Given the description of an element on the screen output the (x, y) to click on. 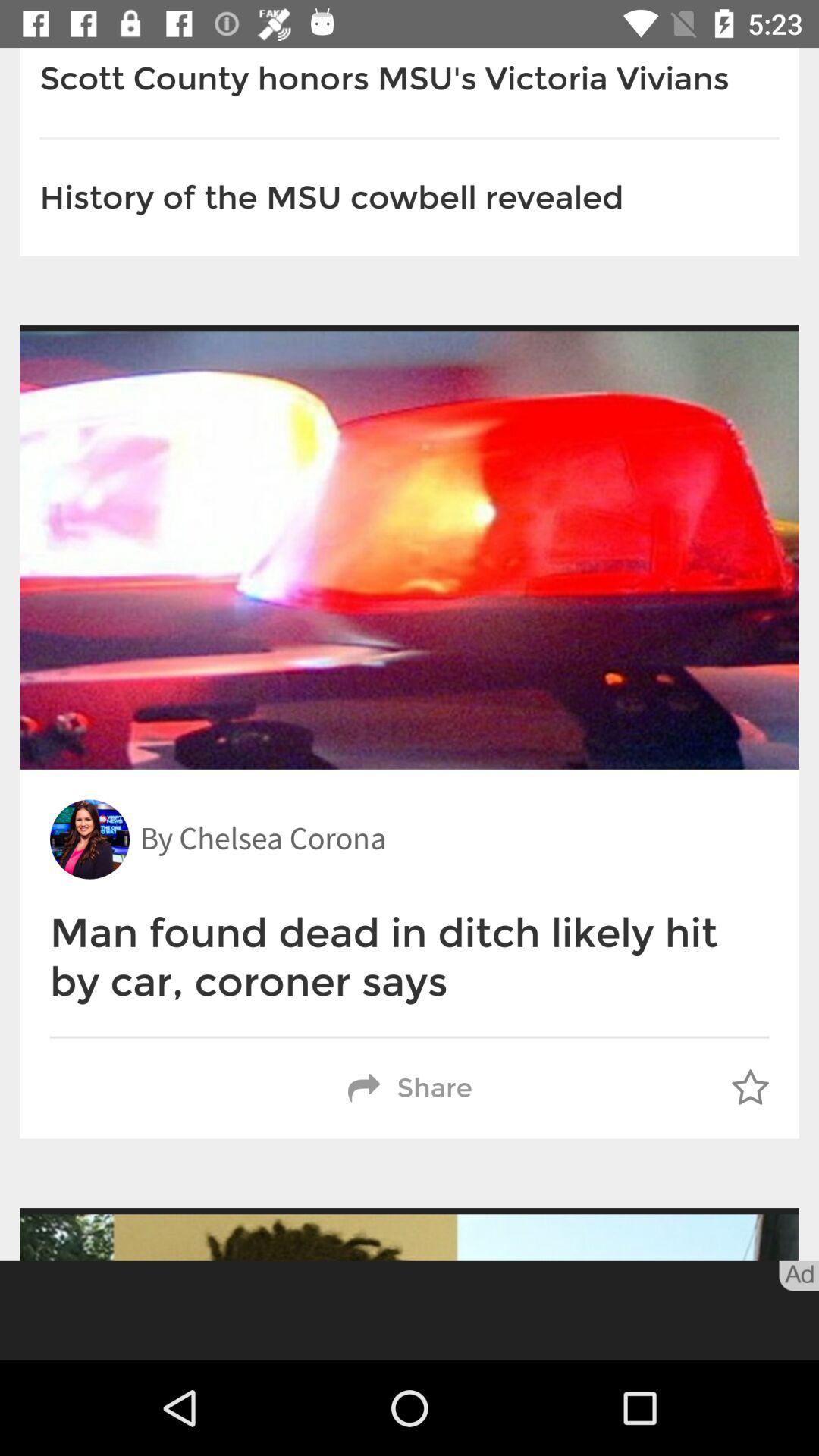
turn on item above the man found dead (262, 839)
